Given the description of an element on the screen output the (x, y) to click on. 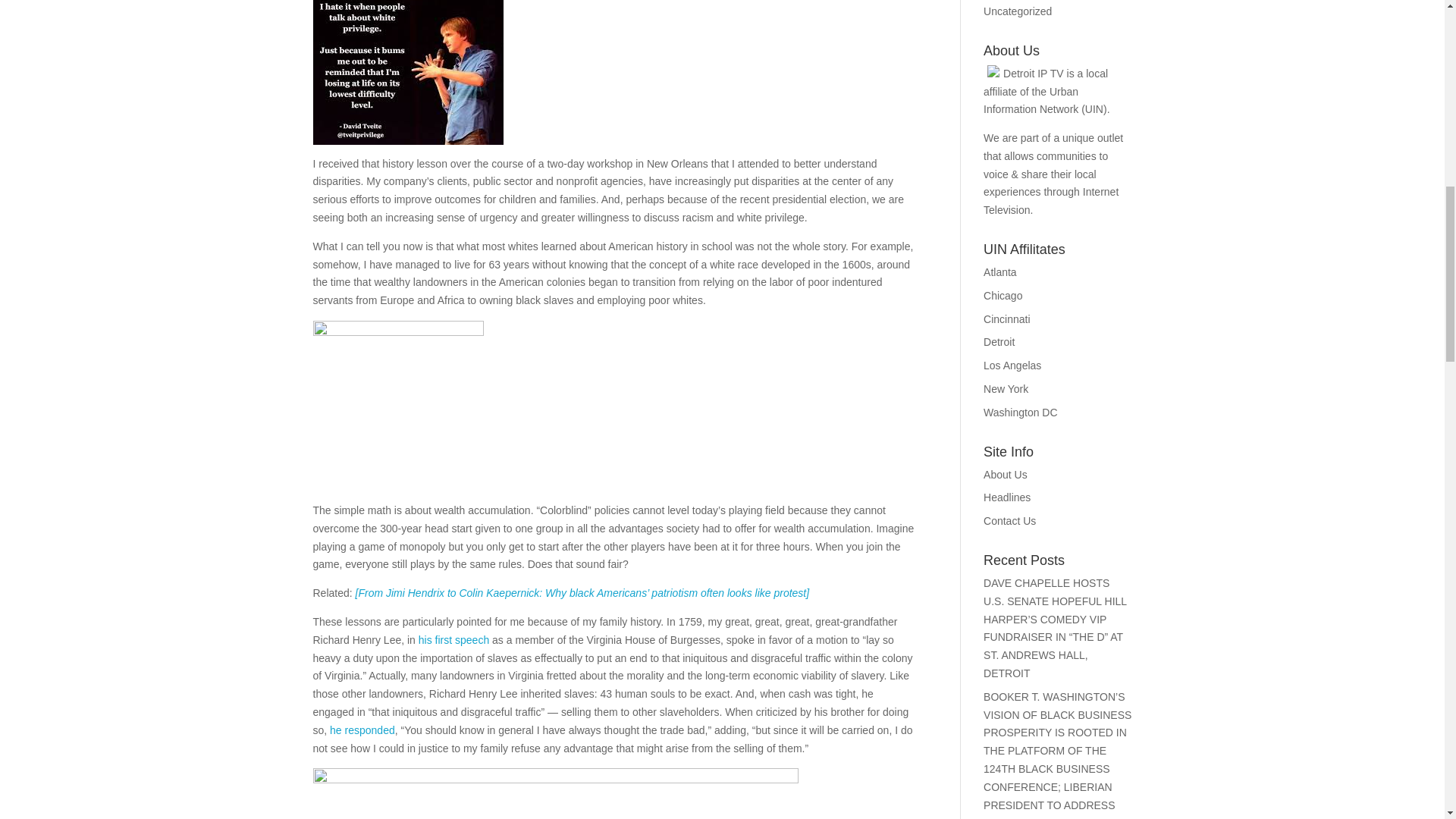
his first speech (454, 639)
Cincinnati (1006, 318)
Uncategorized (1017, 10)
Headlines (1007, 497)
Chicago (1003, 295)
New York (1005, 388)
Los Angelas (1012, 365)
Detroit (999, 341)
About Us (1005, 474)
Atlanta (1000, 272)
he responded (362, 729)
Washington DC (1021, 412)
